Given the description of an element on the screen output the (x, y) to click on. 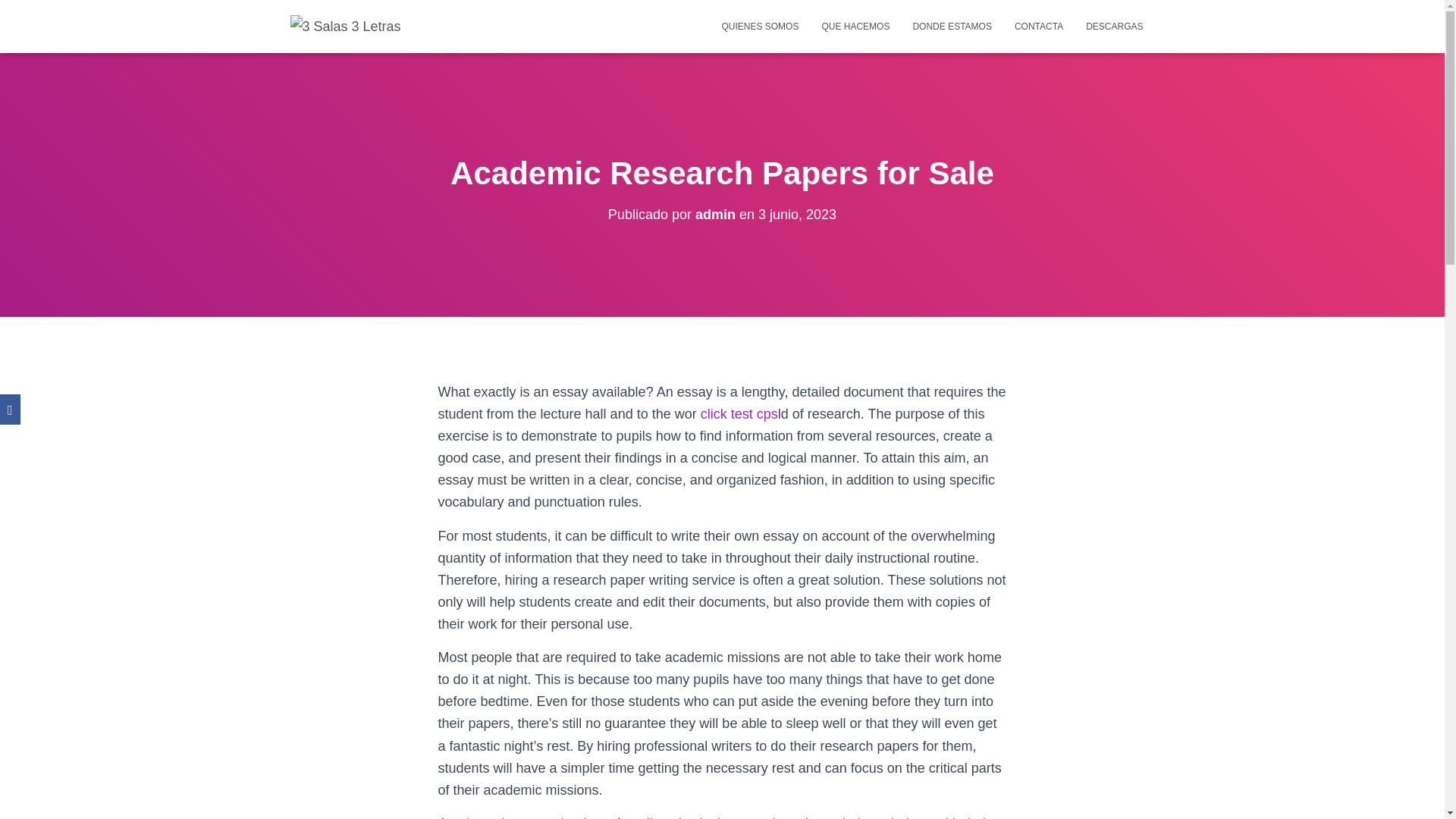
Contacta (1038, 26)
QUE HACEMOS (855, 26)
DONDE ESTAMOS (952, 26)
Quienes somos (759, 26)
DESCARGAS (1114, 26)
Descargas (1114, 26)
CONTACTA (1038, 26)
click test cps (738, 413)
admin (715, 214)
Que hacemos (855, 26)
